Given the description of an element on the screen output the (x, y) to click on. 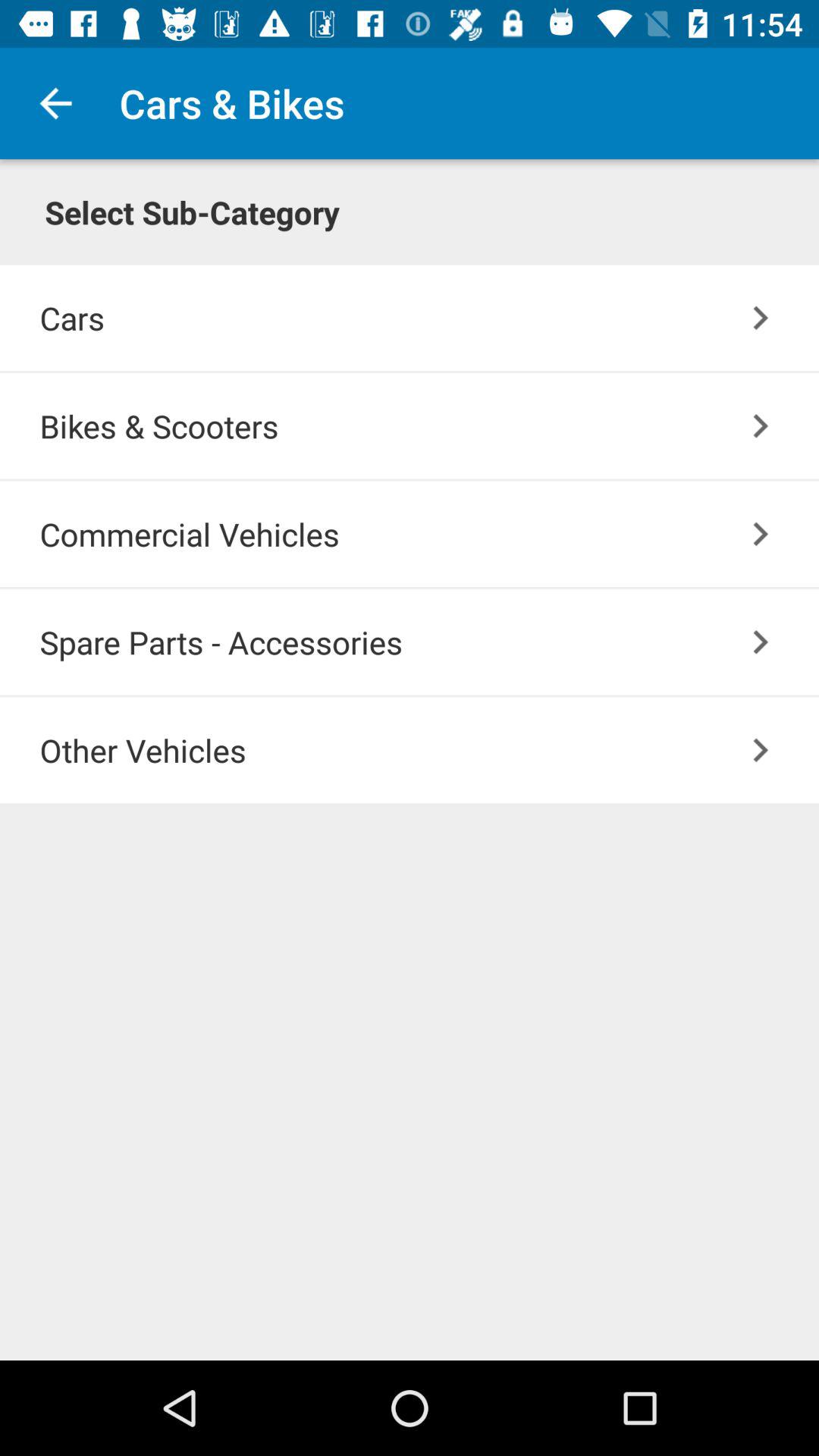
launch other vehicles icon (429, 750)
